Given the description of an element on the screen output the (x, y) to click on. 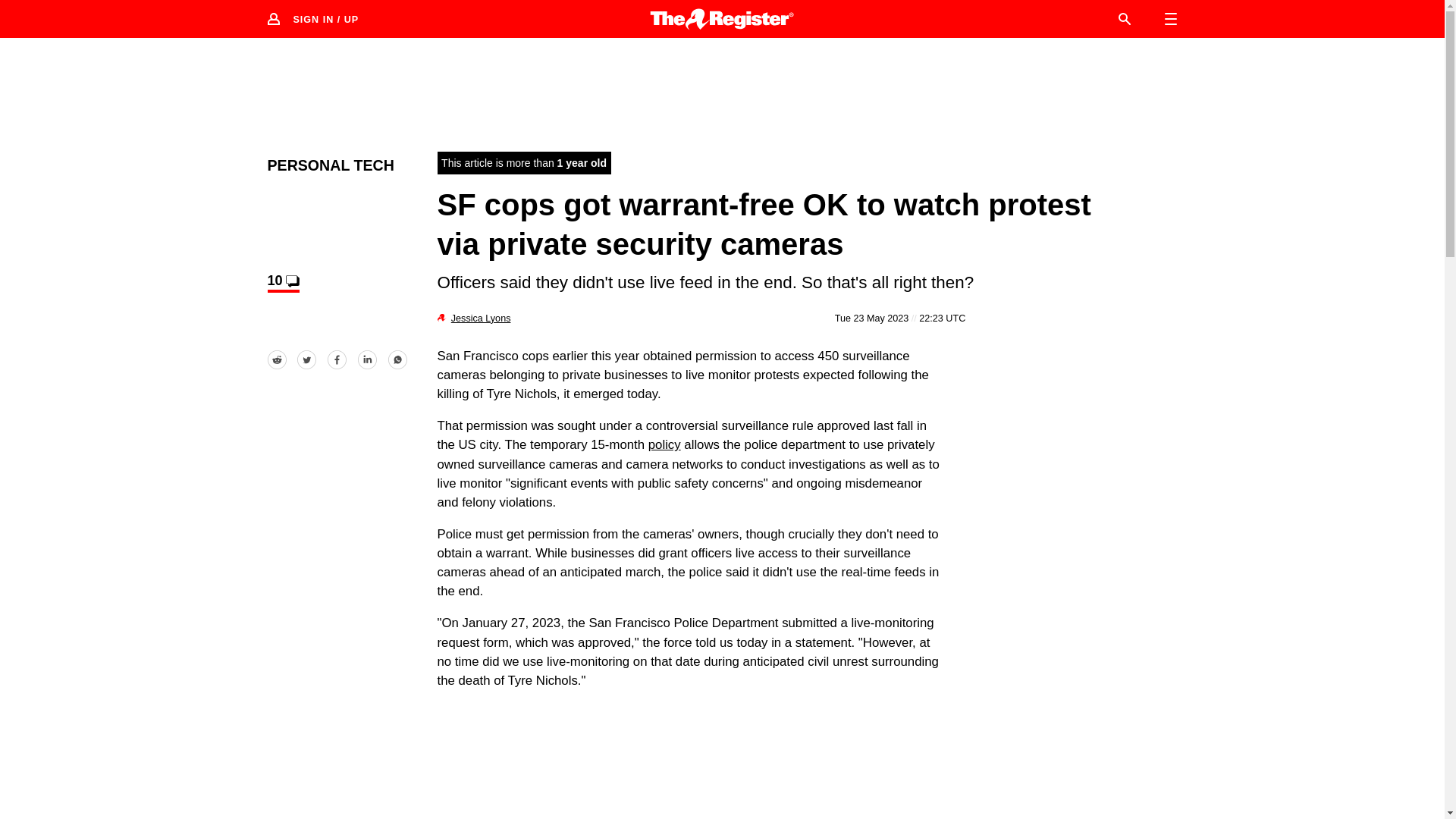
Read more by this author (481, 318)
View comments on this article (282, 282)
